Given the description of an element on the screen output the (x, y) to click on. 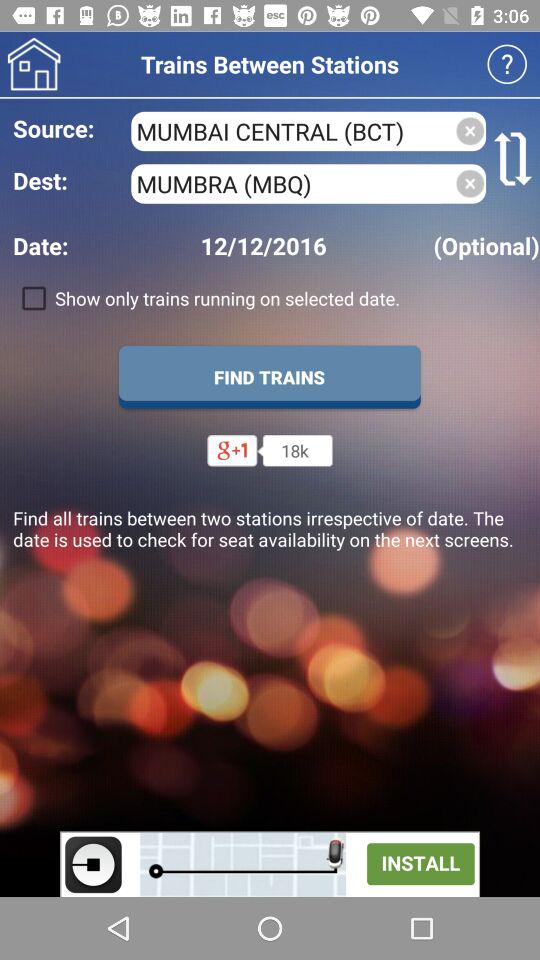
go to install uber (270, 864)
